Given the description of an element on the screen output the (x, y) to click on. 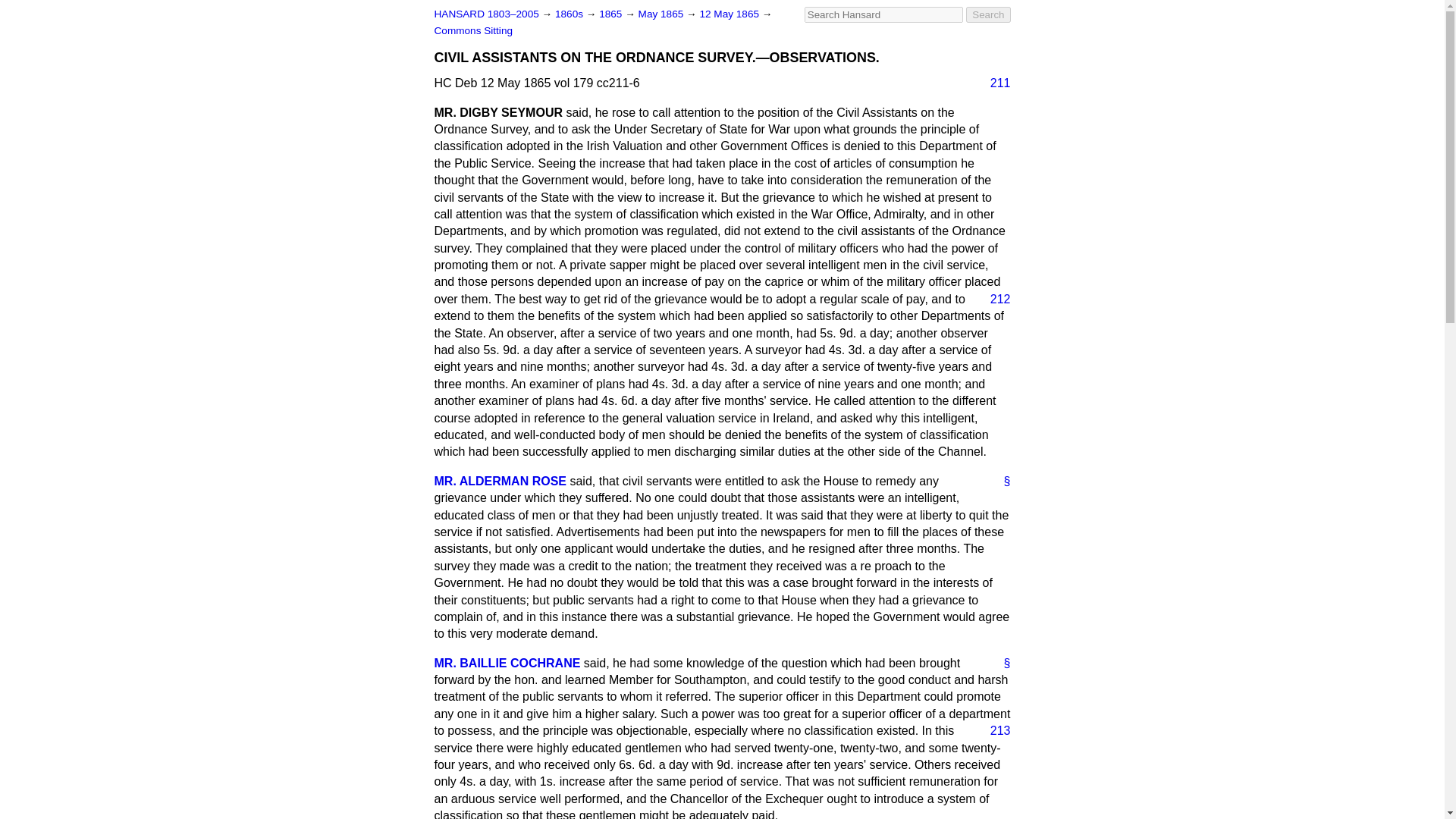
MR. BAILLIE COCHRANE (506, 662)
212 (994, 299)
Mr William Rose (499, 481)
Commons Sitting (472, 30)
213 (994, 730)
12 May 1865 (729, 13)
1860s (570, 13)
Link to this speech by Mr William Rose (1000, 481)
Mr Alexander Baillie-Cochrane (506, 662)
1865 (611, 13)
Link to this speech by Mr Alexander Baillie-Cochrane (1000, 663)
MR. ALDERMAN ROSE (499, 481)
211 (994, 83)
Search (988, 14)
May 1865 (662, 13)
